Given the description of an element on the screen output the (x, y) to click on. 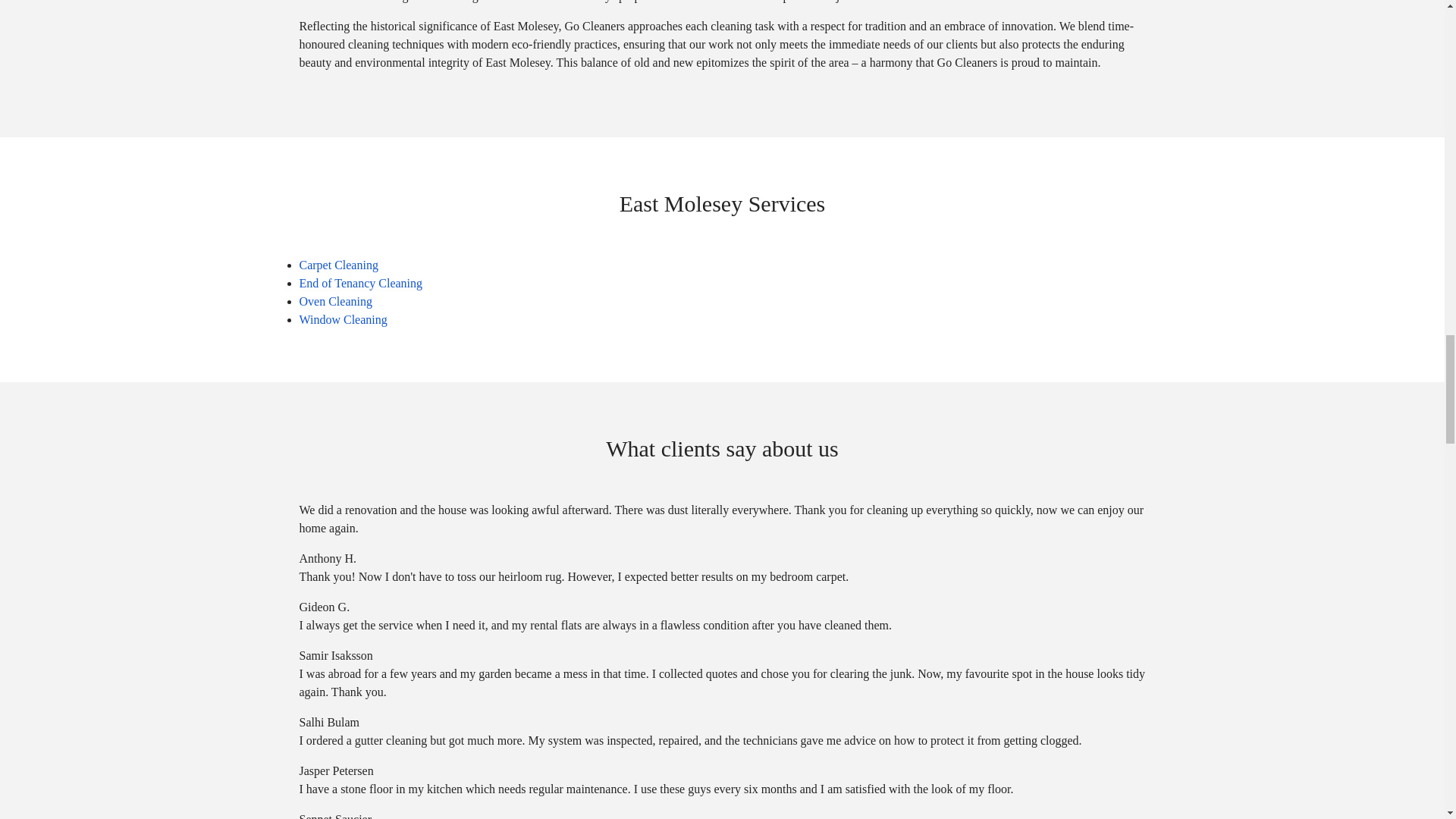
Window Cleaning (342, 318)
End of Tenancy Cleaning (360, 282)
Oven Cleaning (334, 300)
Carpet Cleaning (337, 264)
